Given the description of an element on the screen output the (x, y) to click on. 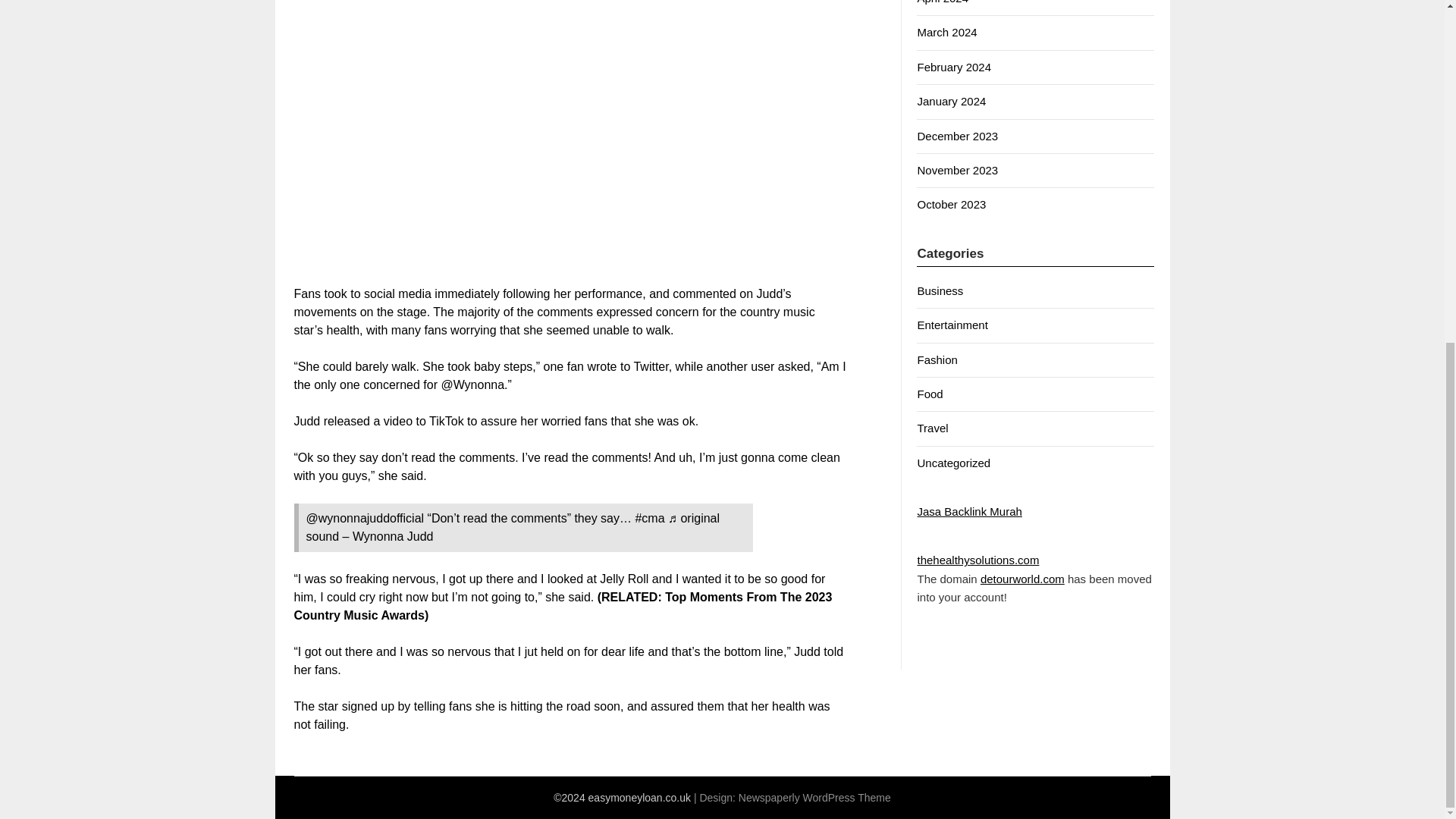
thehealthysolutions.com (978, 559)
January 2024 (951, 101)
Business (939, 290)
April 2024 (942, 2)
March 2024 (946, 31)
Jasa Backlink Murah (969, 511)
November 2023 (957, 169)
Uncategorized (953, 462)
Travel (932, 427)
December 2023 (957, 135)
